Given the description of an element on the screen output the (x, y) to click on. 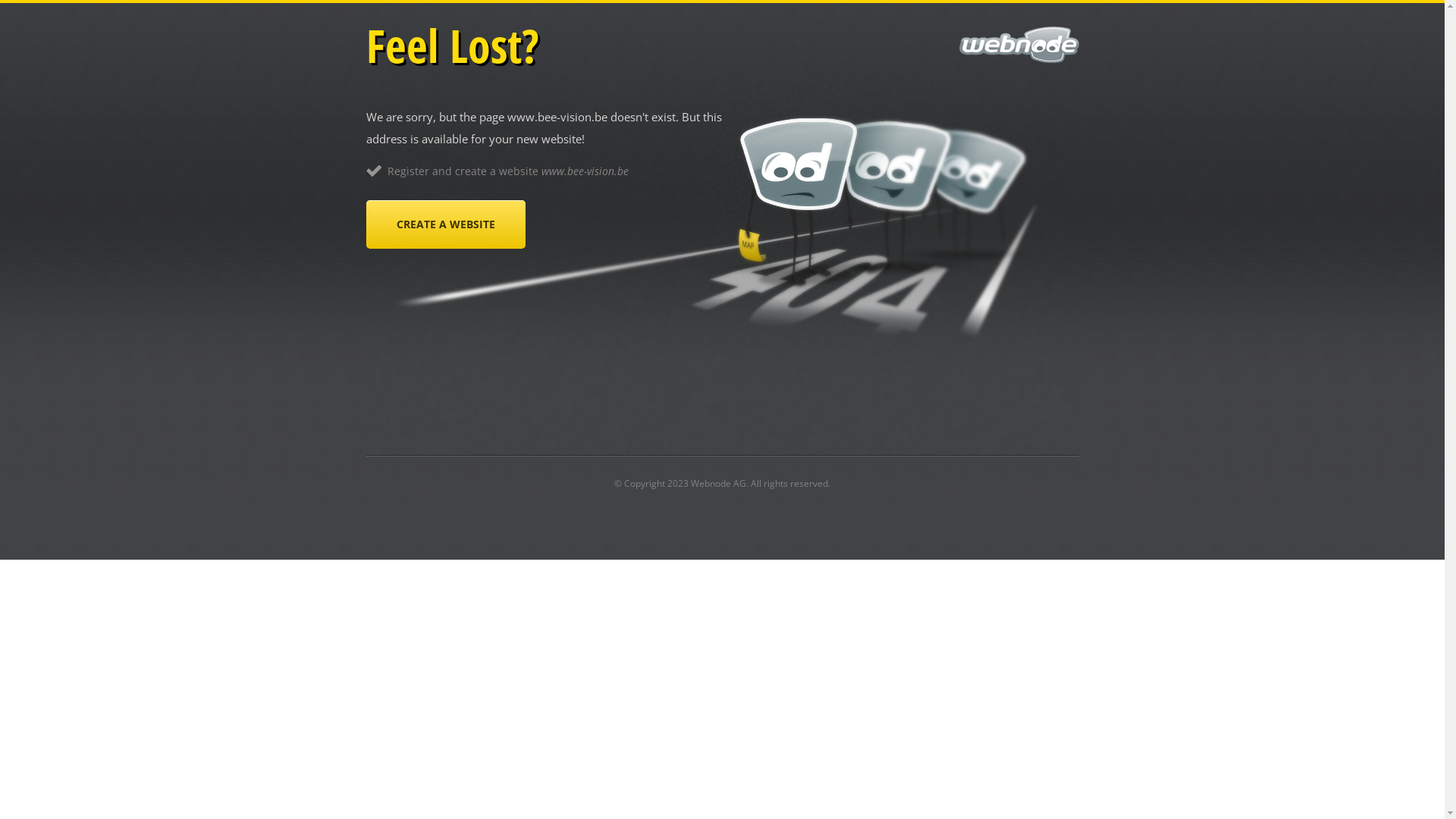
CREATE A WEBSITE Element type: text (444, 224)
Webnode AG Element type: text (718, 482)
